Given the description of an element on the screen output the (x, y) to click on. 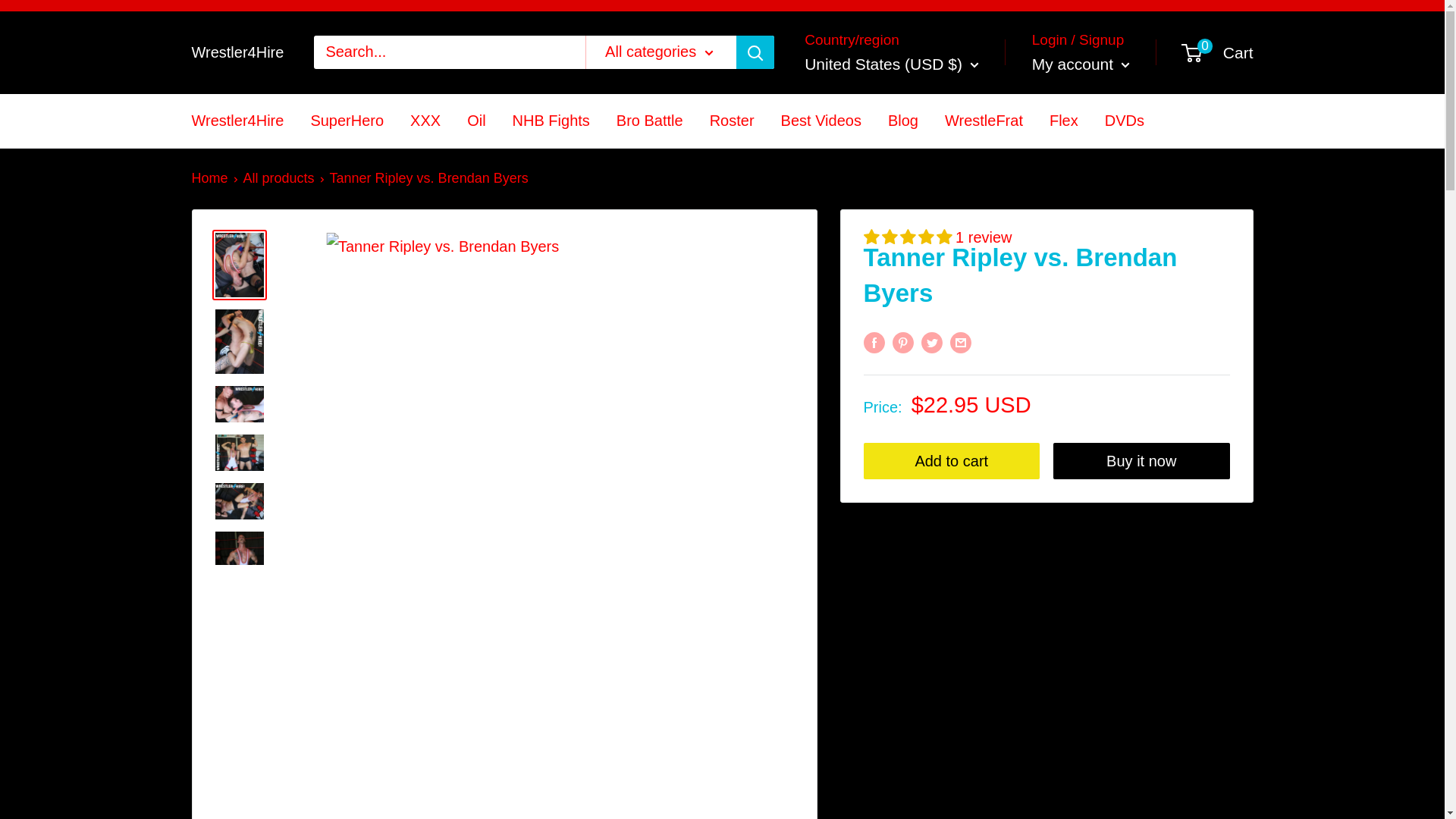
AD (819, 232)
AX (819, 147)
Wrestler4Hire (236, 52)
AW (819, 401)
AC (819, 429)
DZ (819, 204)
AL (819, 175)
BH (819, 571)
AM (819, 373)
BS (819, 542)
AI (819, 288)
BD (819, 599)
AO (819, 260)
AU (819, 458)
AT (819, 486)
